Given the description of an element on the screen output the (x, y) to click on. 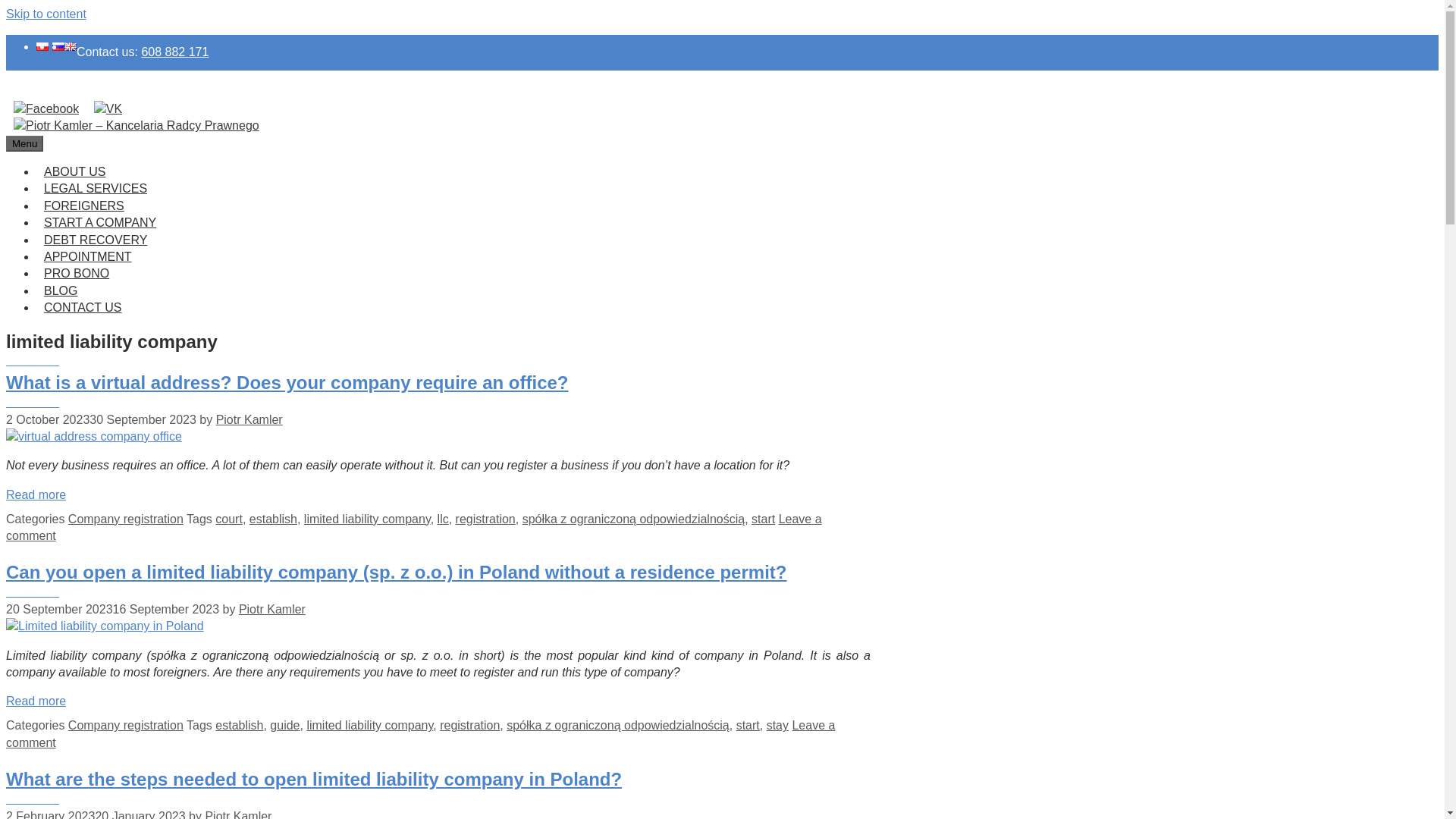
APPOINTMENT (87, 256)
Skip to content (45, 13)
guide (284, 725)
608 882 171 (174, 51)
DEBT RECOVERY (95, 239)
Menu (24, 143)
Leave a comment (413, 527)
View all posts by Piotr Kamler (237, 814)
court (229, 518)
START A COMPANY (99, 222)
View all posts by Piotr Kamler (248, 419)
View all posts by Piotr Kamler (271, 608)
Read more (35, 494)
Skip to content (45, 13)
